Given the description of an element on the screen output the (x, y) to click on. 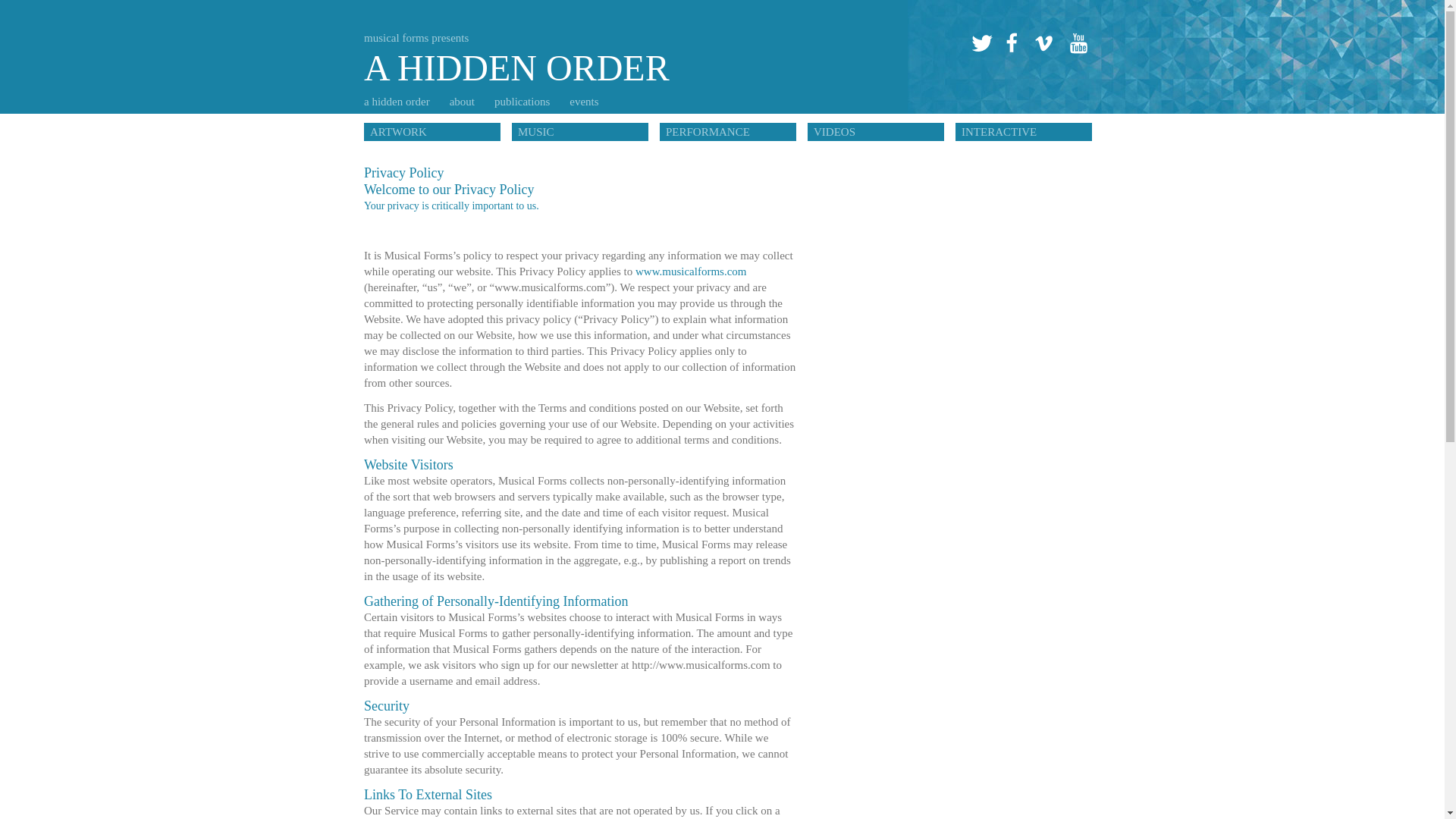
about (466, 101)
INTERACTIVE (1023, 131)
a hidden order (402, 101)
Musical Forms (516, 48)
PERFORMANCE (1043, 45)
ARTWORK (727, 131)
events (432, 131)
www.musicalforms.com (588, 101)
YouTube (690, 271)
VIDEOS (1077, 45)
publications (875, 131)
Musical Forms (527, 101)
Twitter (516, 48)
MUSIC (981, 45)
